Given the description of an element on the screen output the (x, y) to click on. 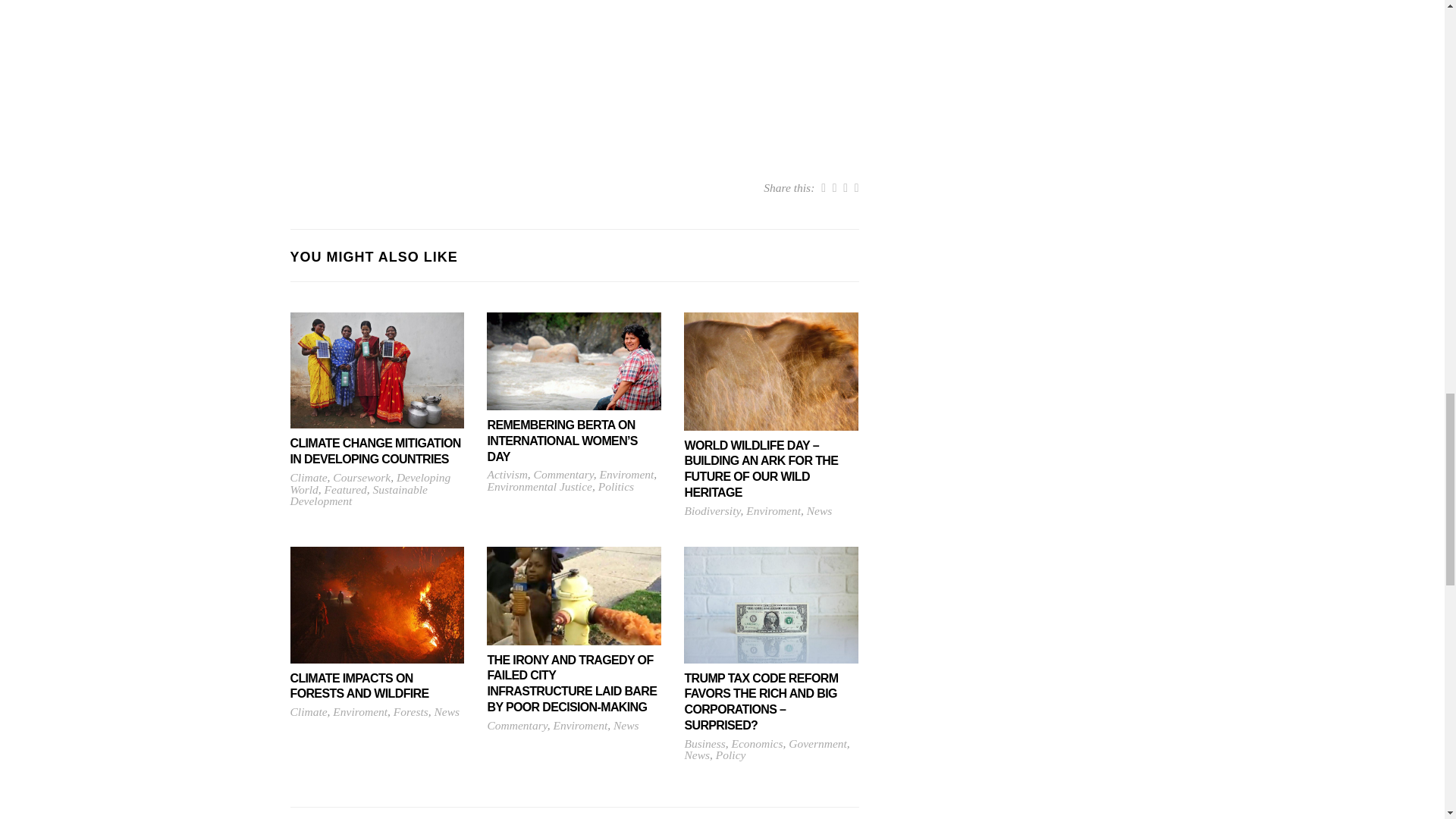
Climate Change Mitigation in Developing Countries (376, 369)
Climate Change Mitigation in Developing Countries (376, 487)
Climate Impacts on Forests and Wildfire (376, 603)
CLIMATE CHANGE MITIGATION IN DEVELOPING COUNTRIES (376, 487)
